Given the description of an element on the screen output the (x, y) to click on. 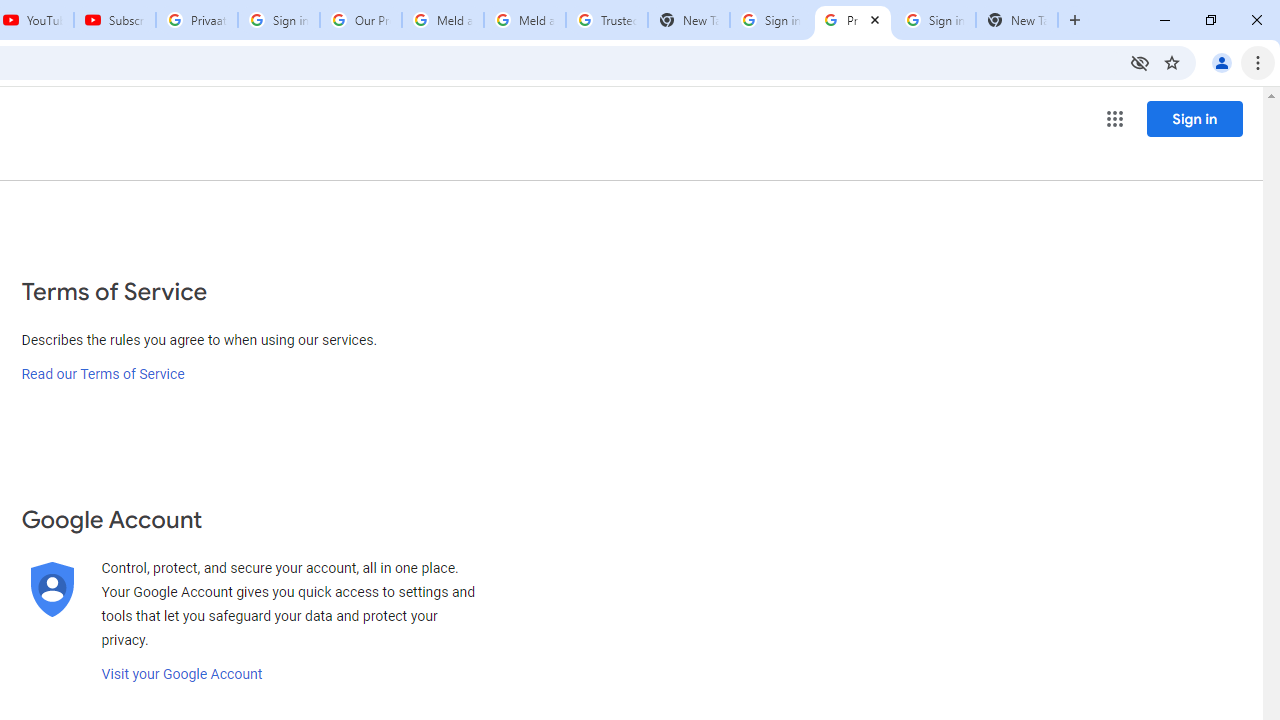
Minimize (1165, 20)
New Tab (1075, 20)
Sign in - Google Accounts (278, 20)
Chrome (1260, 62)
Sign in (1194, 118)
Google apps (1114, 118)
Read our Terms of Service (102, 374)
New Tab (688, 20)
